Given the description of an element on the screen output the (x, y) to click on. 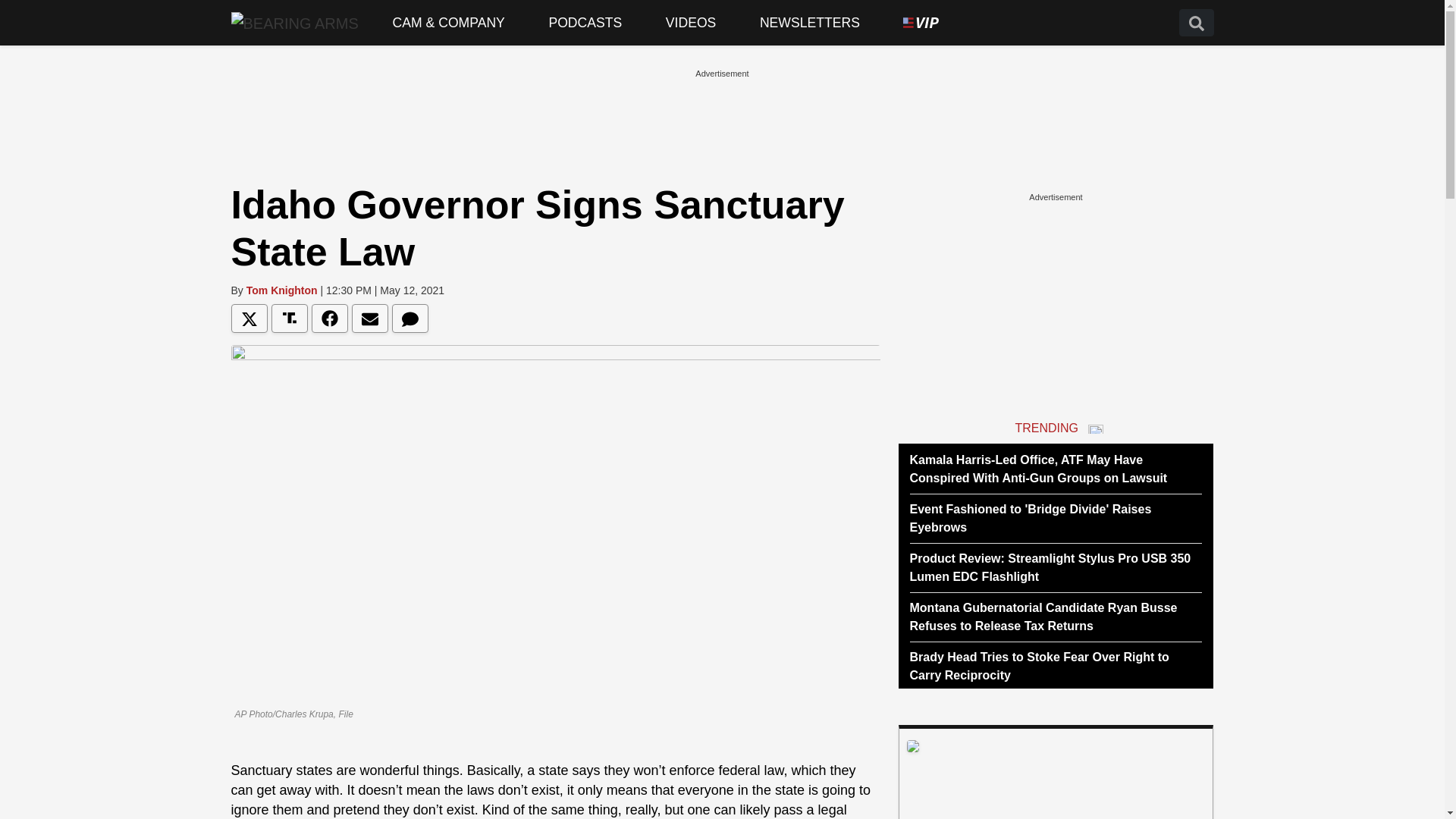
VIDEOS (690, 22)
Newsletters (810, 22)
VIP (920, 22)
Podcasts (585, 22)
PODCASTS (585, 22)
Bearing Arms (294, 22)
NEWSLETTERS (810, 22)
Videos (690, 22)
Site Search (1194, 22)
